Given the description of an element on the screen output the (x, y) to click on. 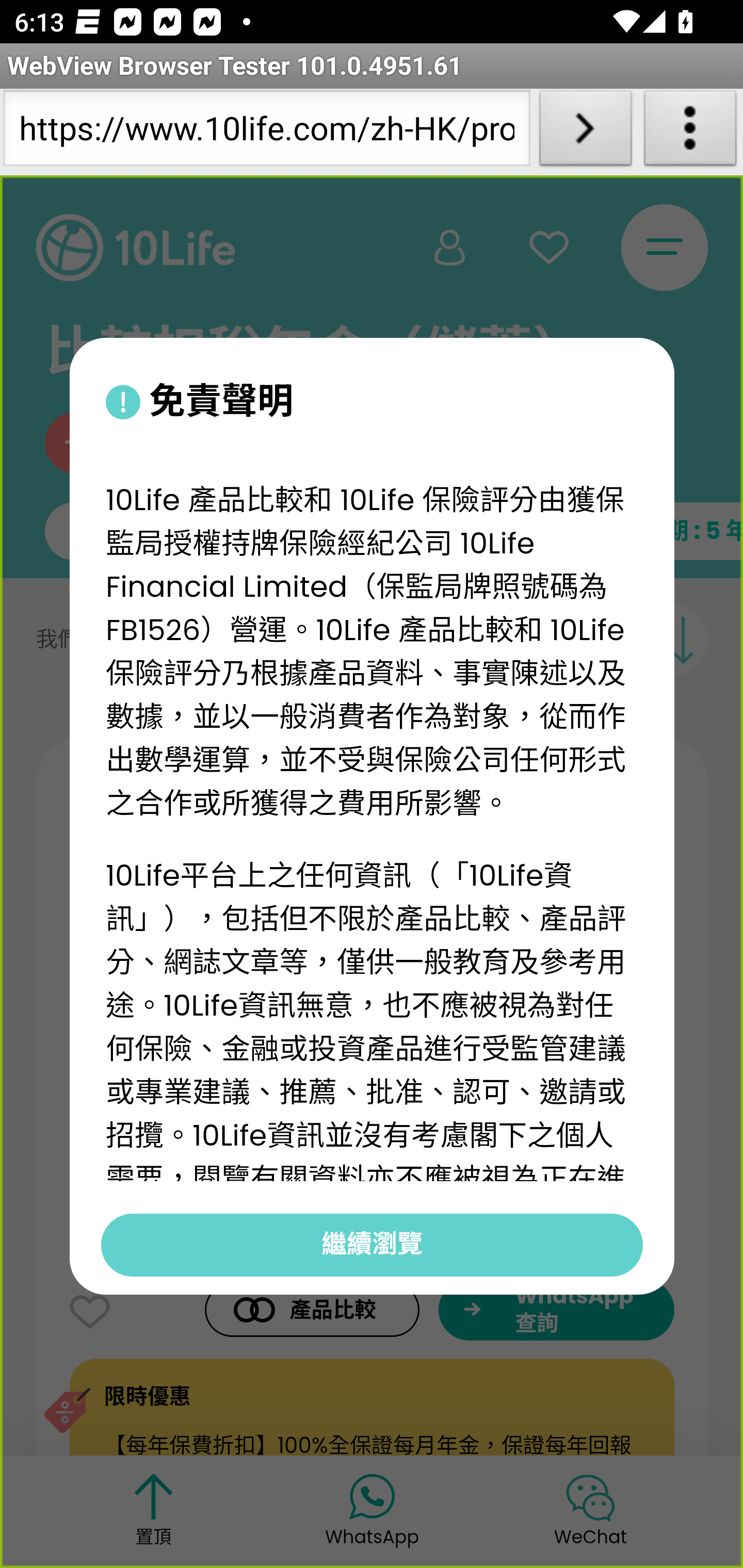
Load URL (585, 132)
About WebView (690, 132)
繼續瀏覽 (371, 1244)
